Given the description of an element on the screen output the (x, y) to click on. 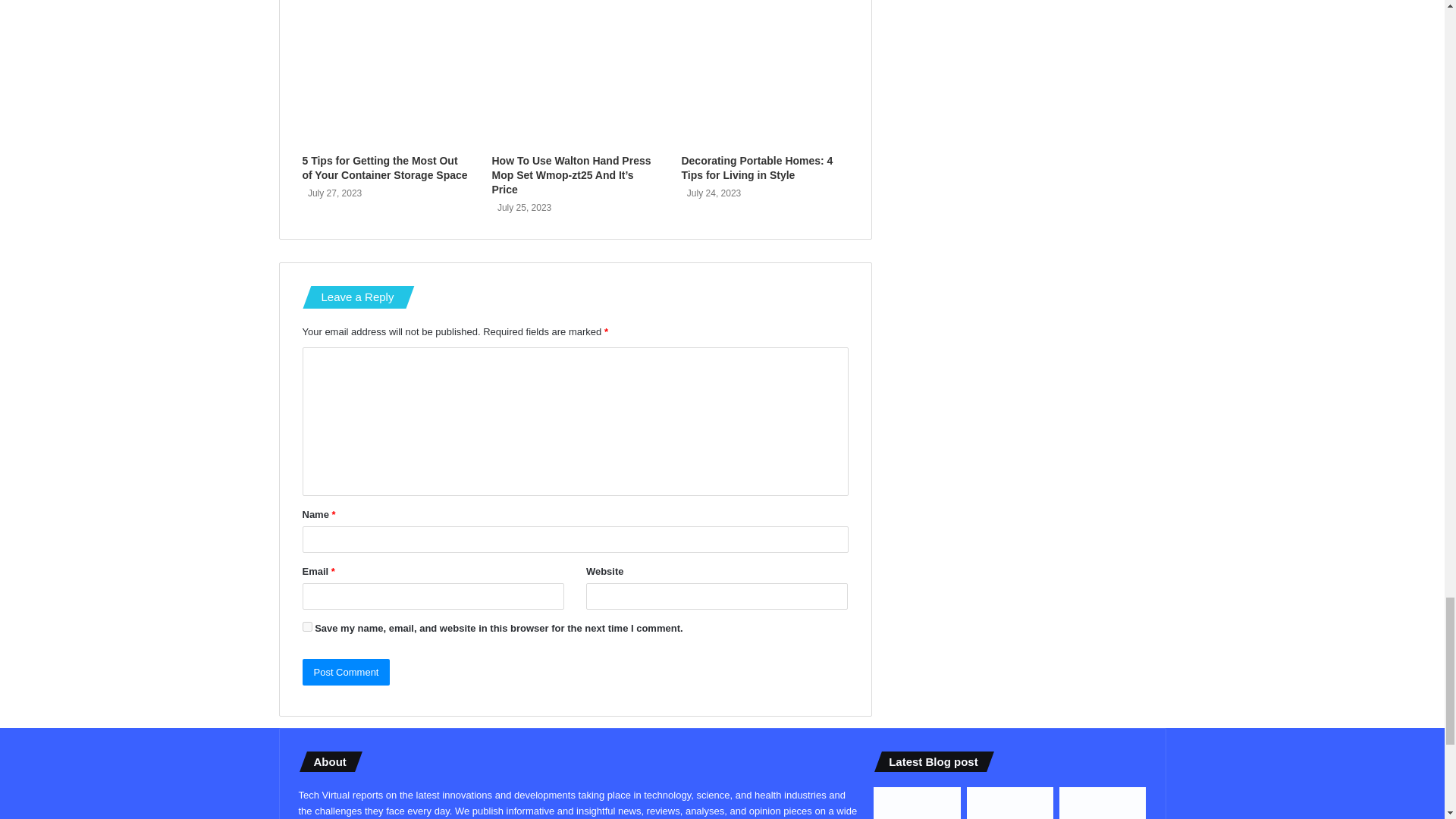
Post Comment (345, 672)
yes (306, 626)
